Given the description of an element on the screen output the (x, y) to click on. 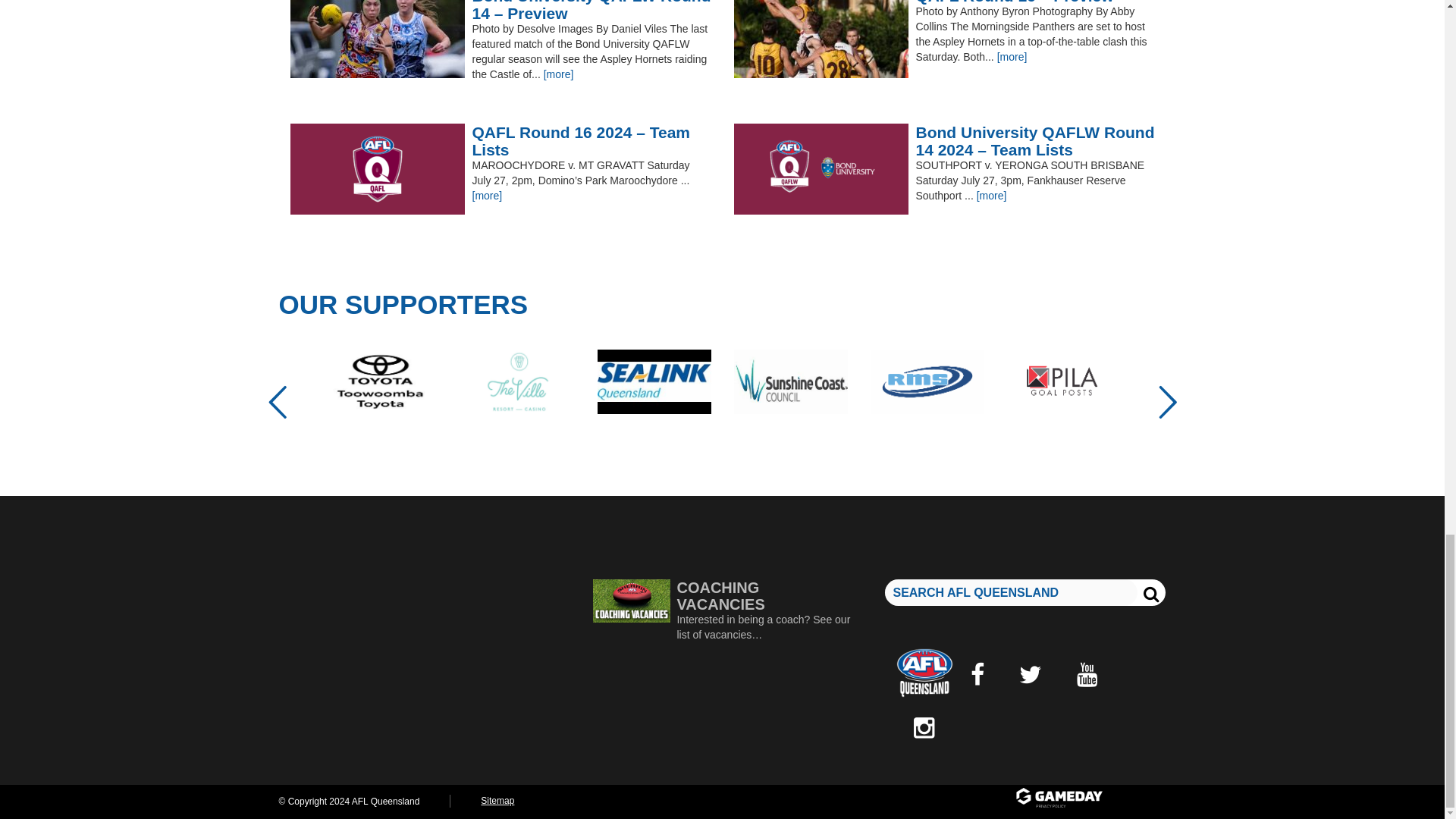
Powered by SportsTG (1089, 798)
